Given the description of an element on the screen output the (x, y) to click on. 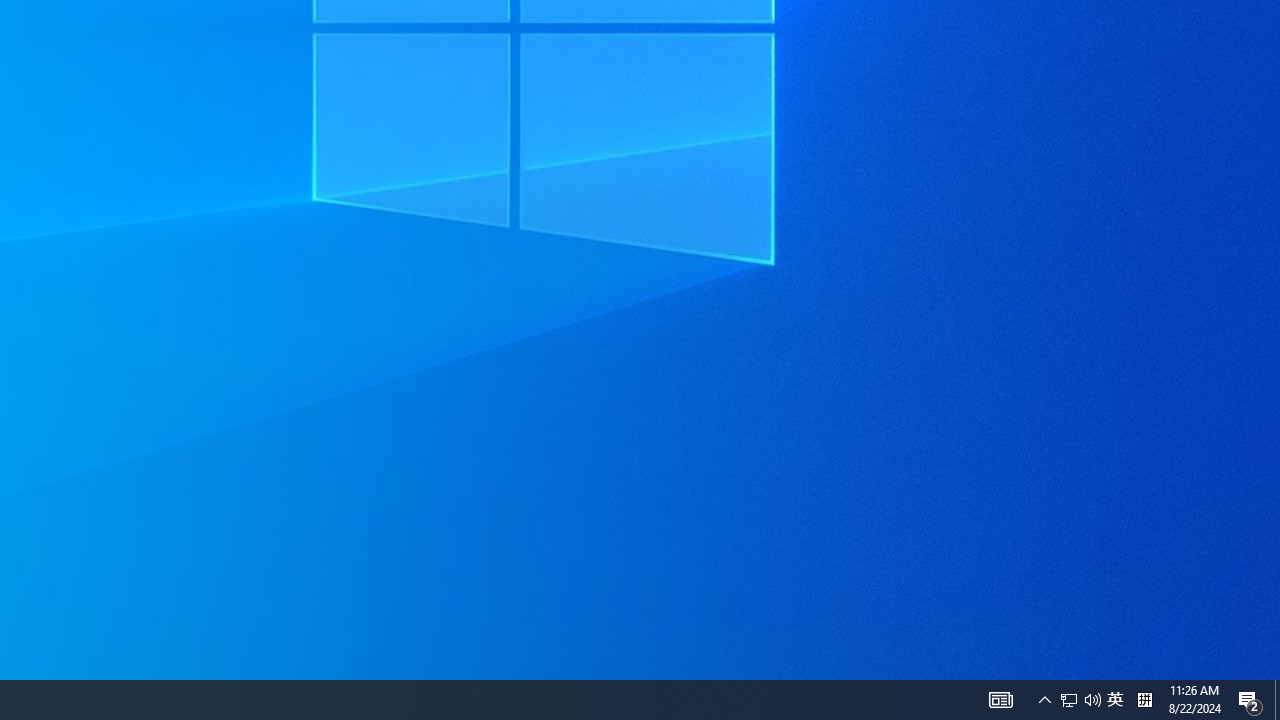
Show desktop (1277, 699)
Action Center, 2 new notifications (1250, 699)
Tray Input Indicator - Chinese (Simplified, China) (1144, 699)
Q2790: 100% (1069, 699)
Notification Chevron (1092, 699)
AutomationID: 4105 (1044, 699)
User Promoted Notification Area (1115, 699)
